Given the description of an element on the screen output the (x, y) to click on. 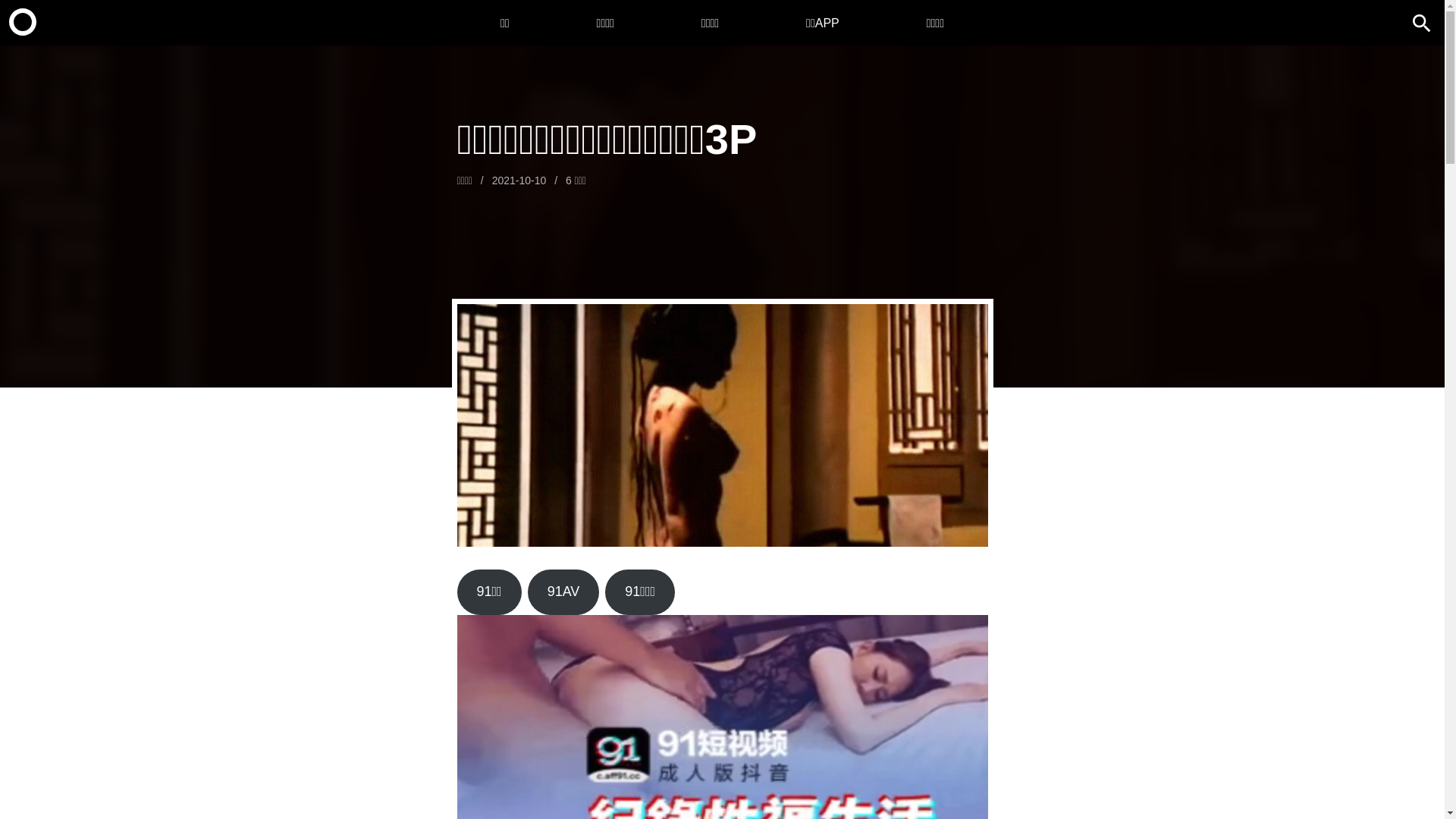
91AV Element type: text (563, 592)
